Given the description of an element on the screen output the (x, y) to click on. 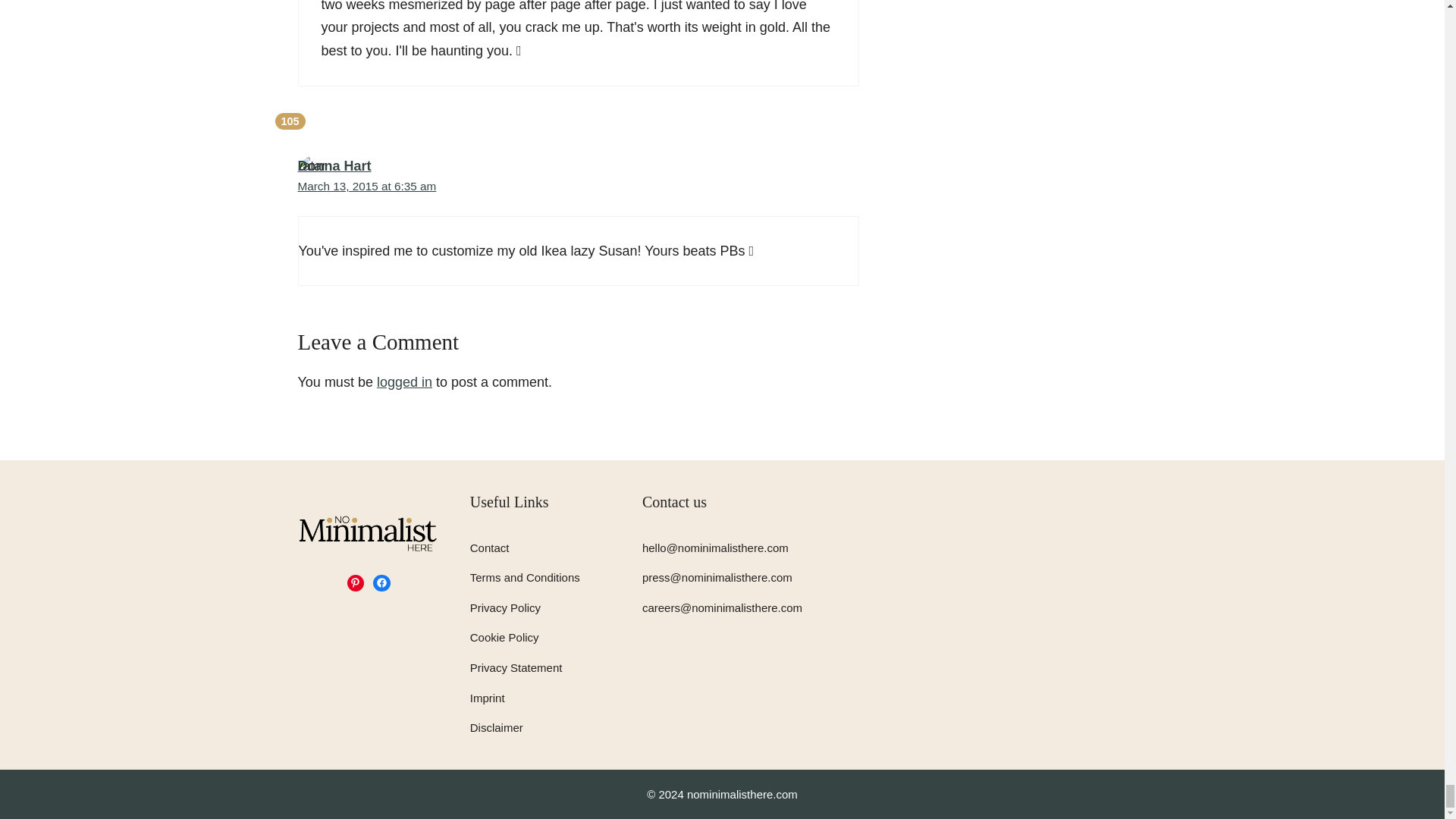
cropped-nominimalisthere-logo.png (368, 532)
